Given the description of an element on the screen output the (x, y) to click on. 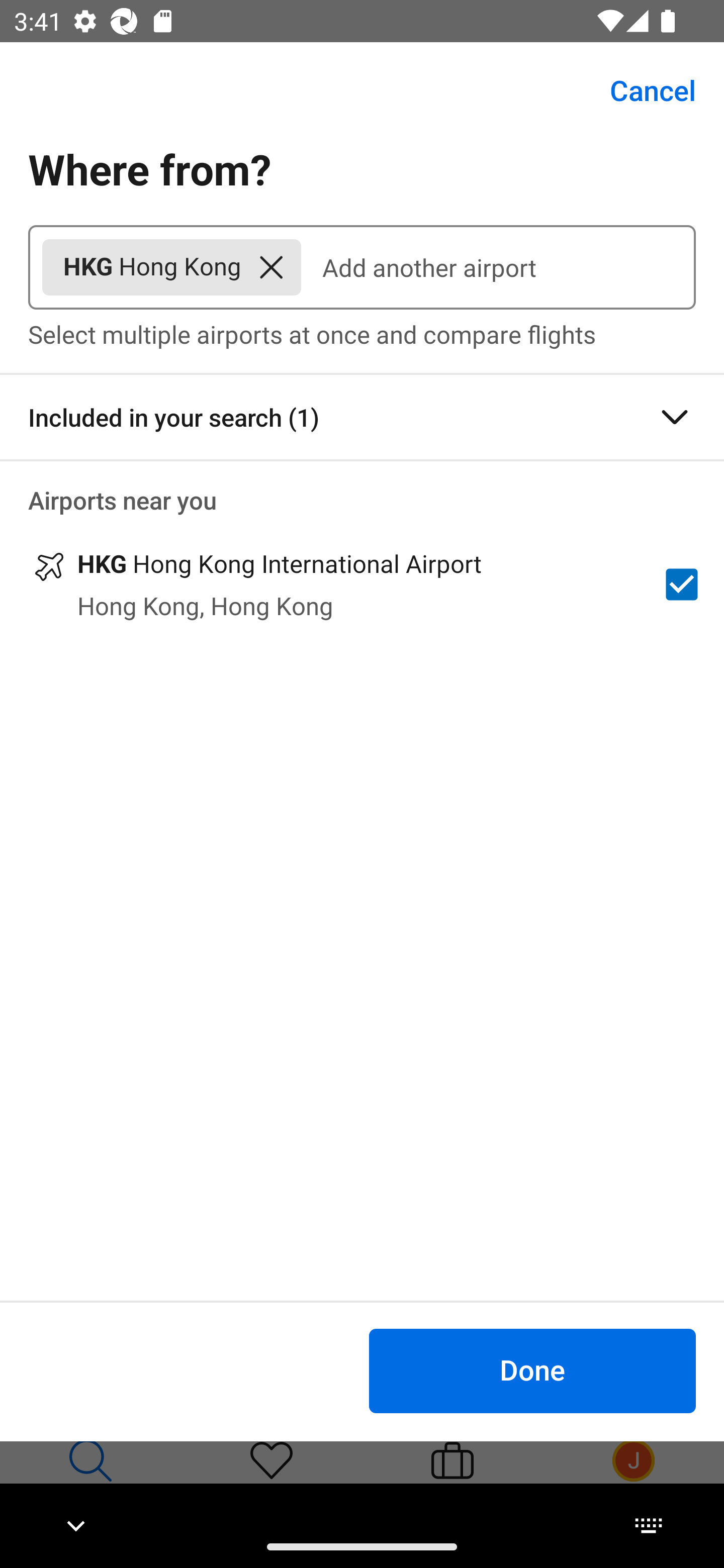
Cancel (641, 90)
Add another airport (498, 266)
HKG Hong Kong Remove HKG Hong Kong (171, 266)
Included in your search (1) (362, 416)
Done (532, 1370)
